Given the description of an element on the screen output the (x, y) to click on. 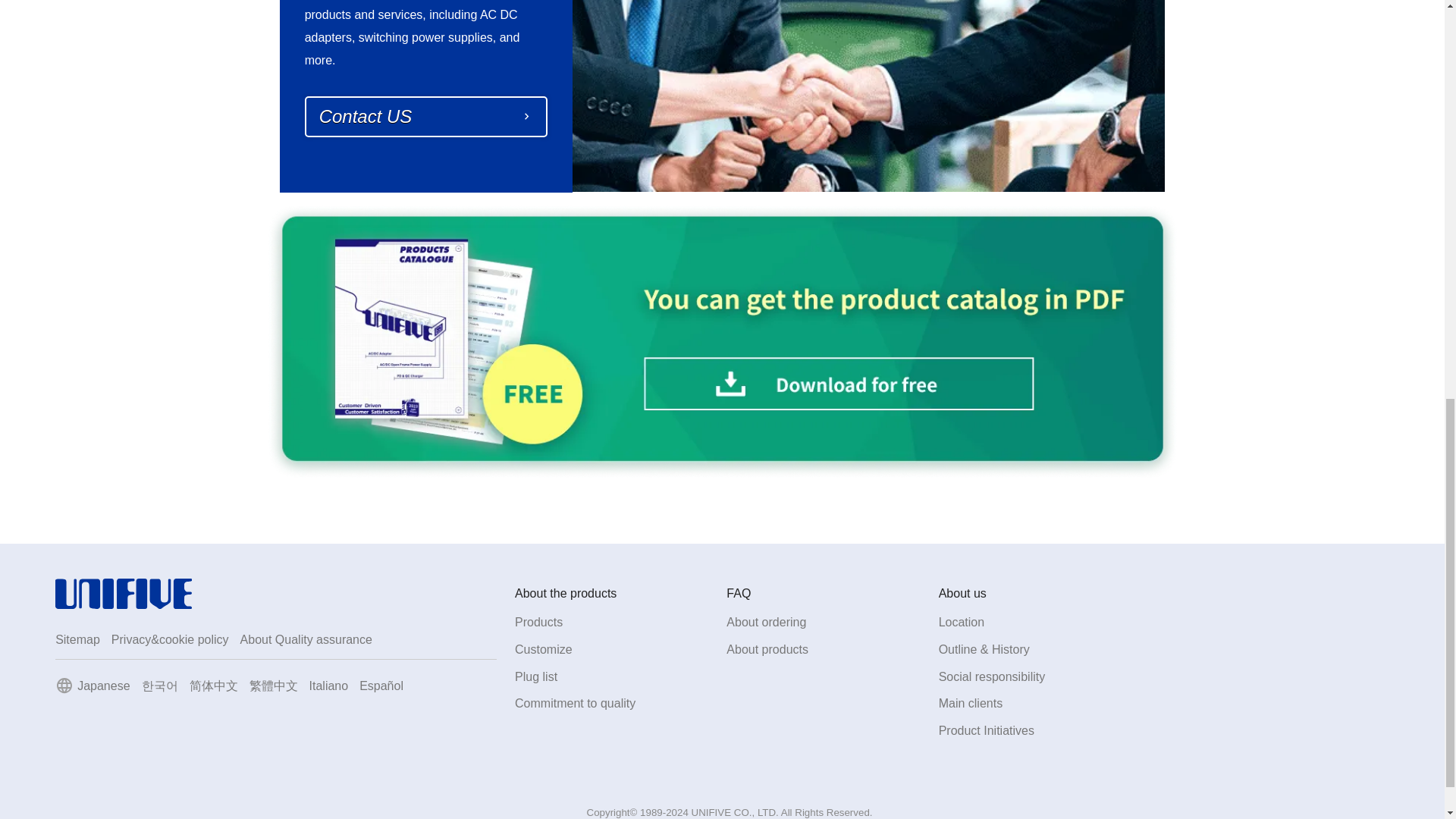
Japanese (103, 685)
Italiano (328, 685)
Plug list (536, 676)
About Quality assurance (306, 639)
Customize (543, 649)
Contact US (425, 116)
Products (538, 621)
Sitemap (77, 639)
